Given the description of an element on the screen output the (x, y) to click on. 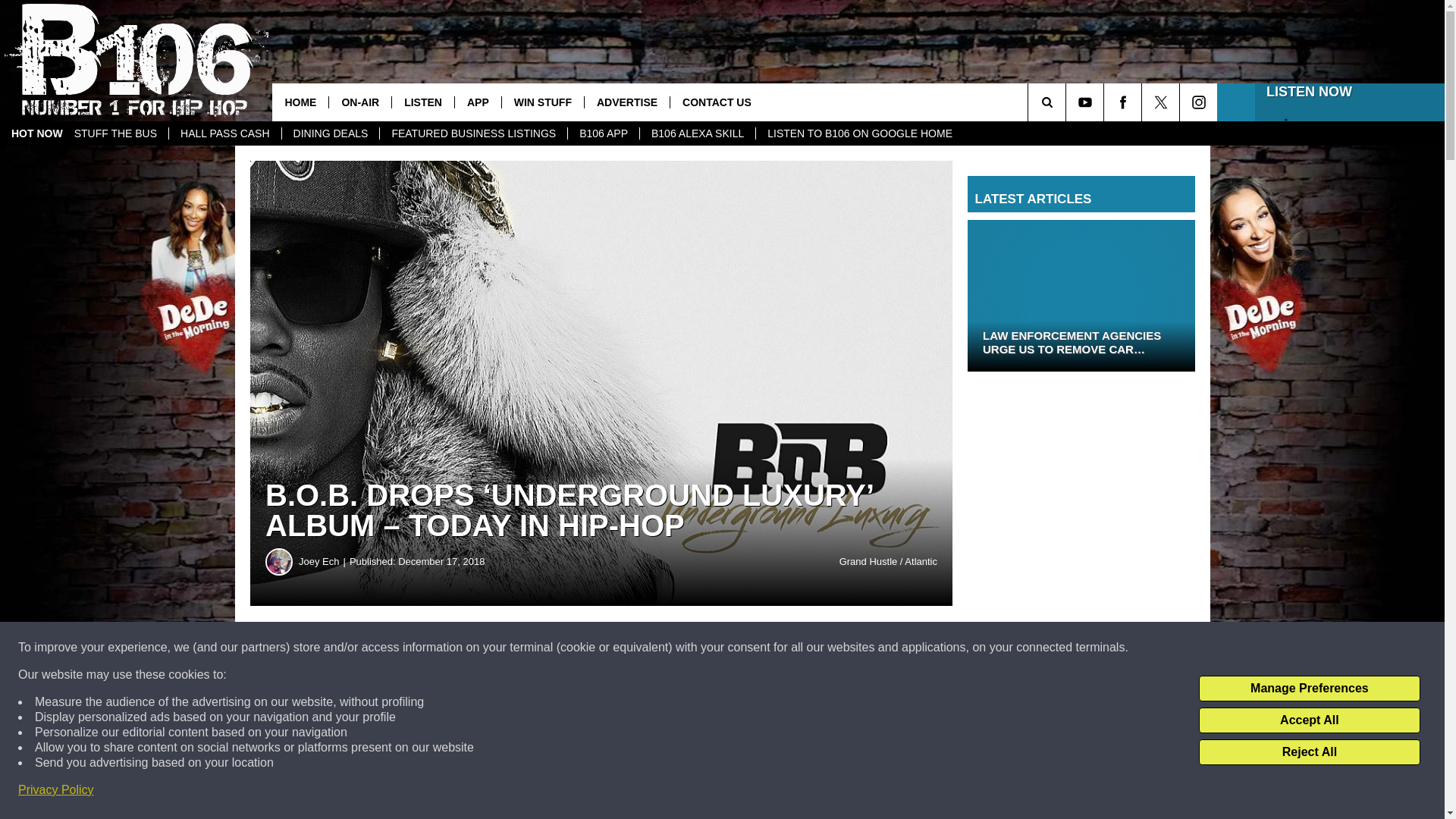
HALL PASS CASH (224, 133)
SEARCH (1068, 102)
APP (477, 102)
HOME (300, 102)
FEATURED BUSINESS LISTINGS (472, 133)
CONTACT US (715, 102)
Privacy Policy (55, 789)
LISTEN (422, 102)
B106 APP (603, 133)
Share on Facebook (460, 647)
